Given the description of an element on the screen output the (x, y) to click on. 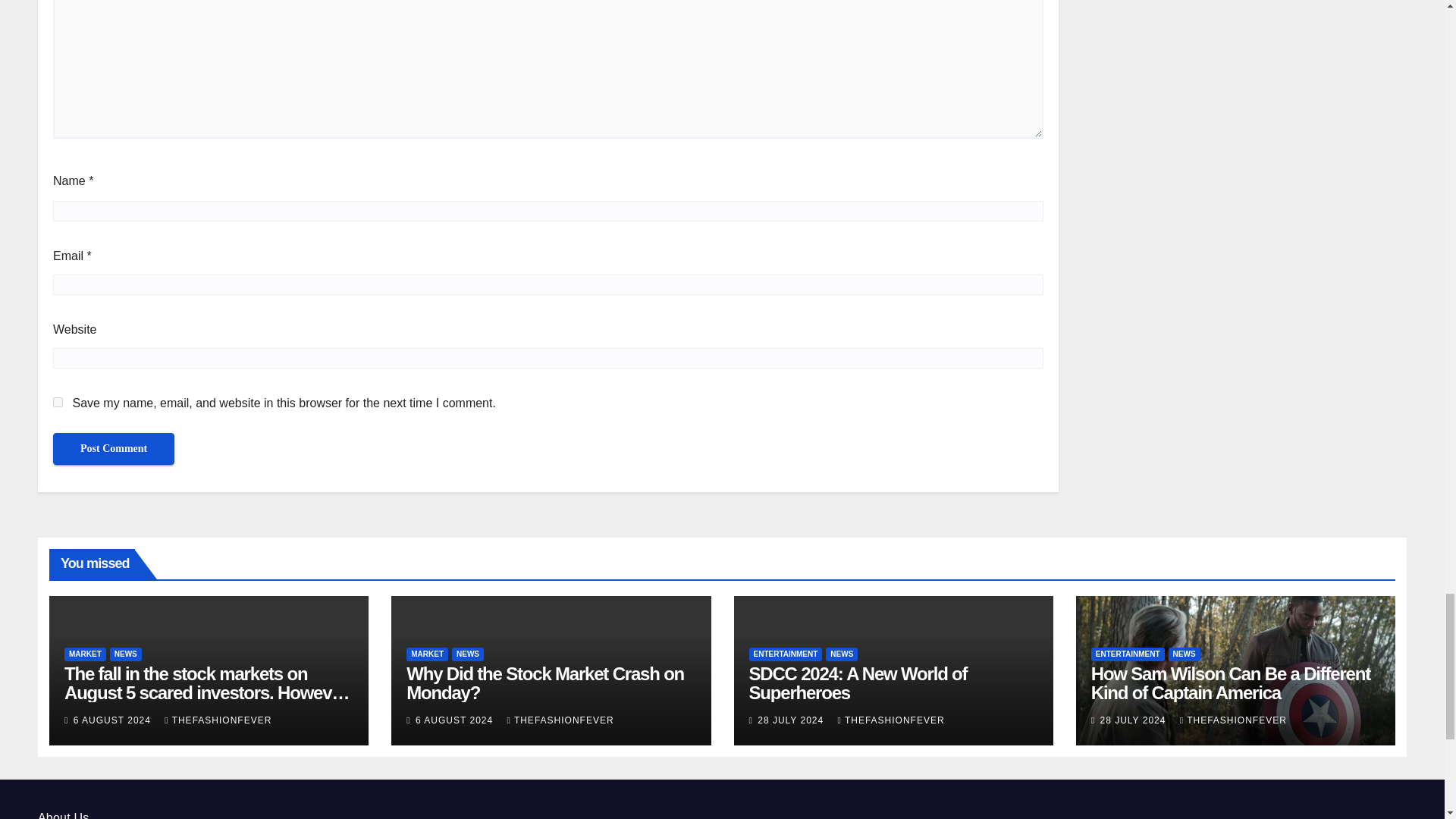
Post Comment (113, 449)
yes (57, 402)
